Given the description of an element on the screen output the (x, y) to click on. 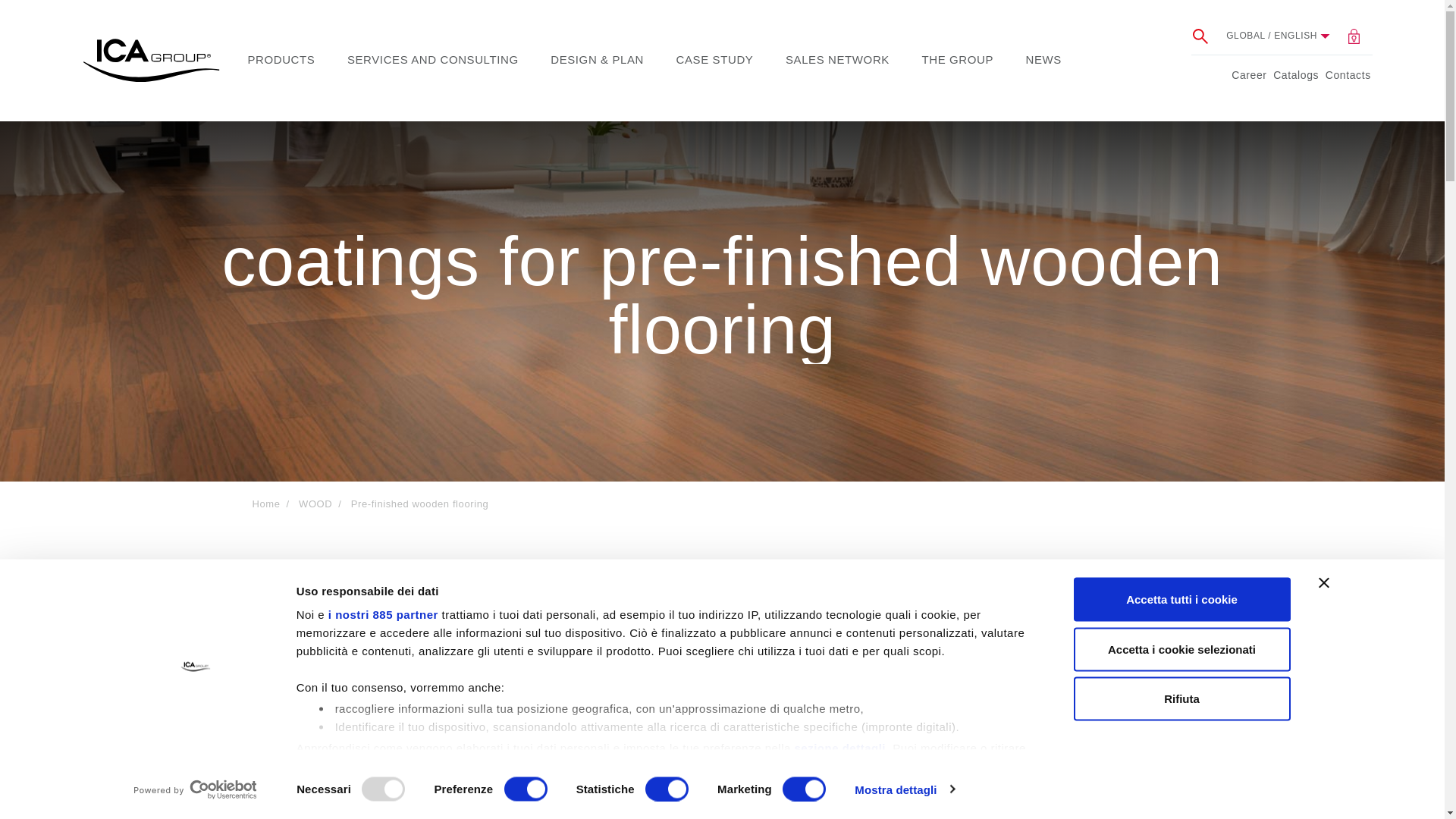
i nostri 885 partner (383, 614)
sezione dettagli (840, 747)
Mostra dettagli (904, 789)
